Given the description of an element on the screen output the (x, y) to click on. 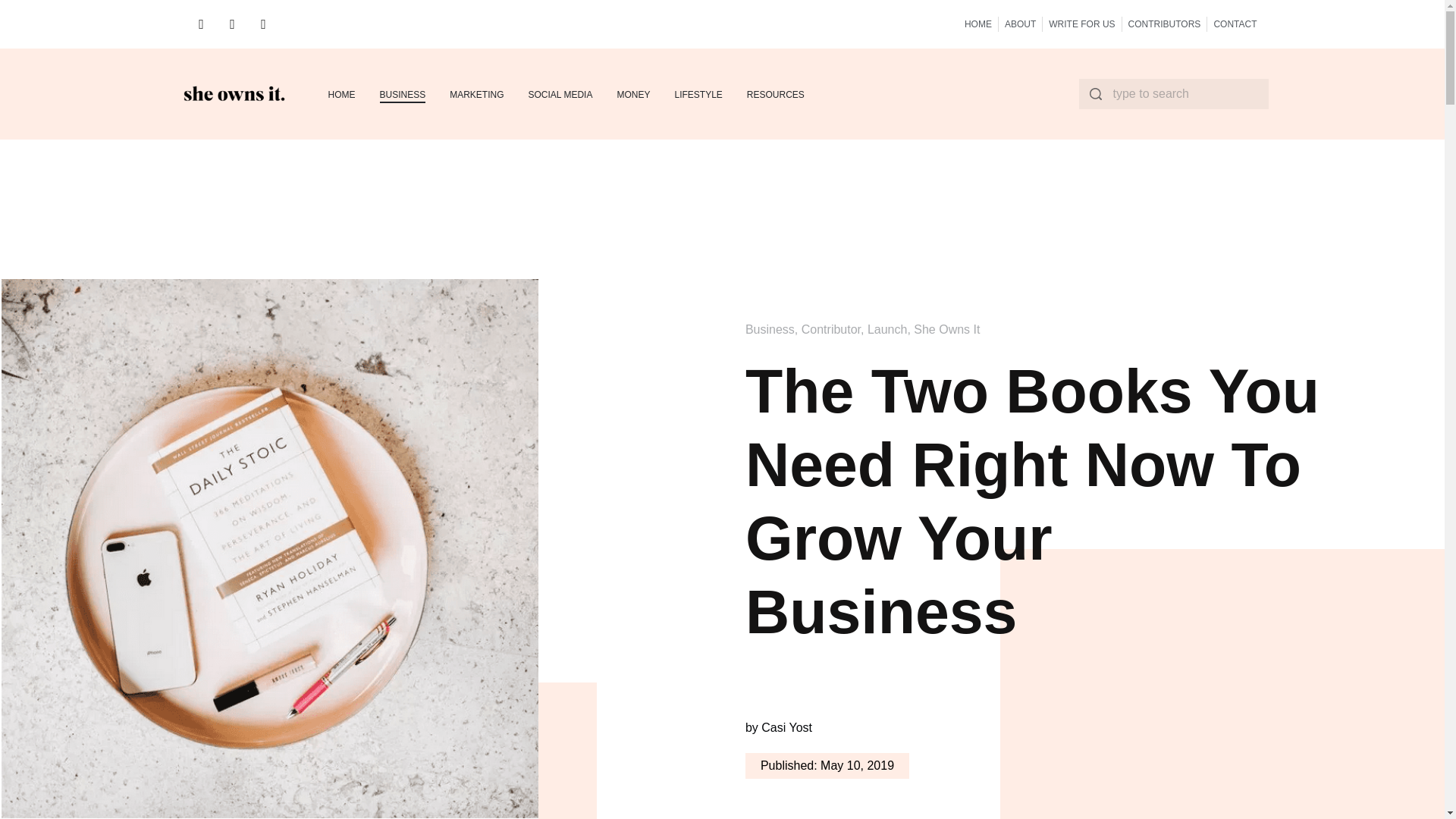
Business (769, 328)
CONTRIBUTORS (1164, 23)
WRITE FOR US (1081, 23)
CONTACT (1234, 23)
BUSINESS (401, 94)
MONEY (632, 94)
SOCIAL MEDIA (560, 94)
LIFESTYLE (698, 94)
RESOURCES (775, 94)
ABOUT (1019, 23)
